Given the description of an element on the screen output the (x, y) to click on. 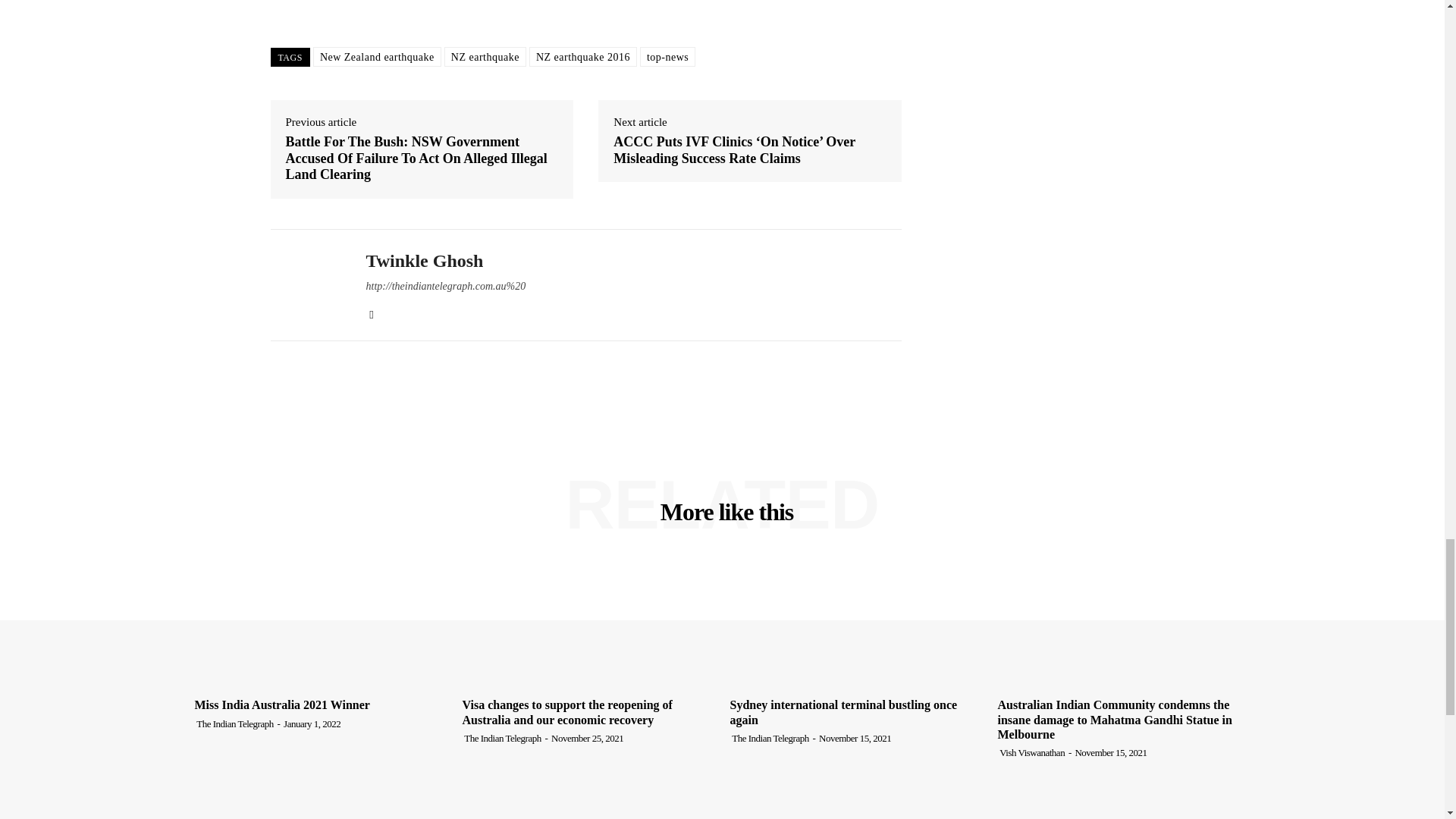
facebook (371, 311)
Twinkle Ghosh (305, 284)
